Given the description of an element on the screen output the (x, y) to click on. 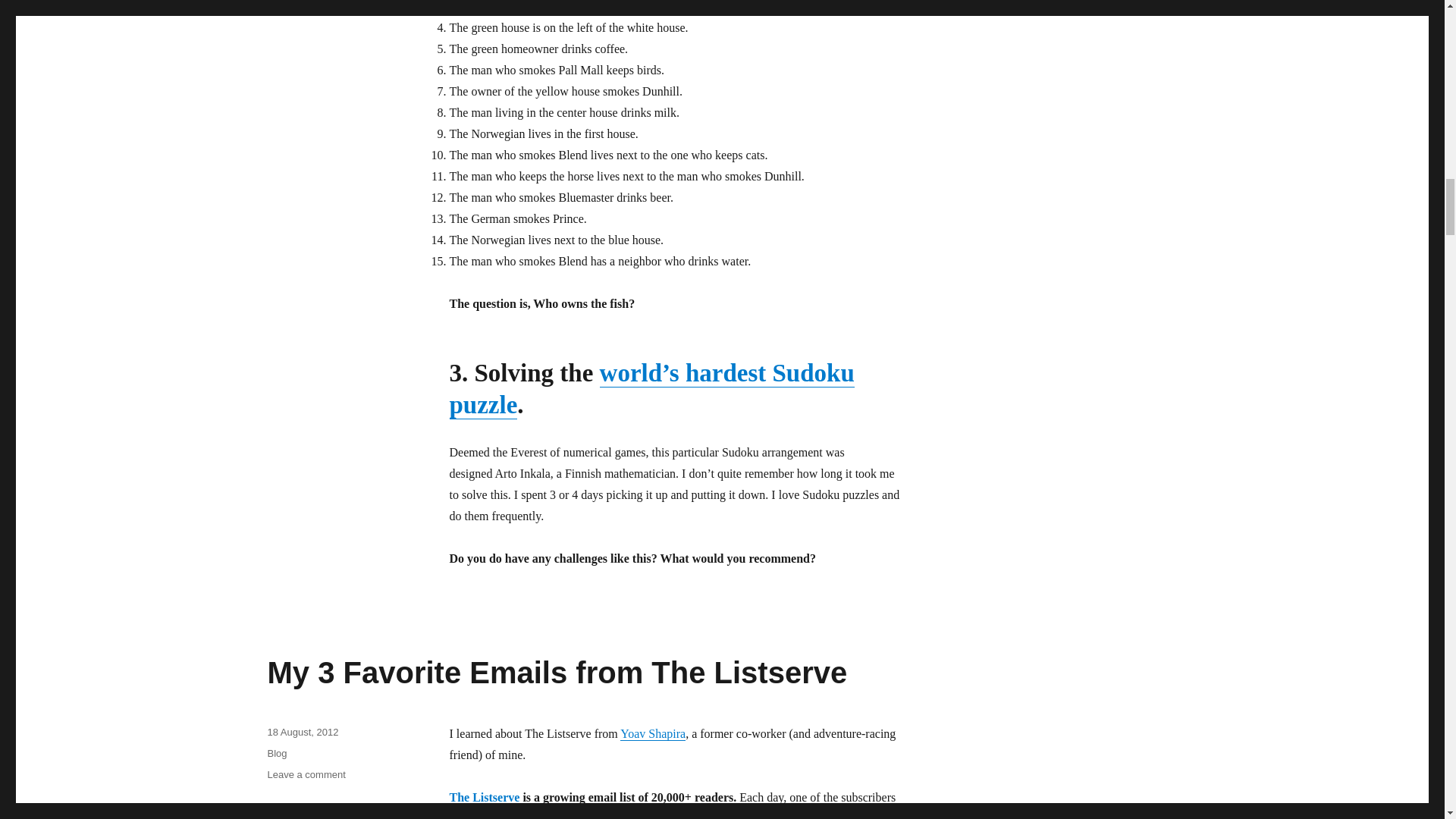
18 August, 2012 (301, 731)
My 3 Favorite Emails from The Listserve (556, 672)
The Listserve (483, 797)
Yoav Shapira (652, 733)
Blog (276, 753)
